Given the description of an element on the screen output the (x, y) to click on. 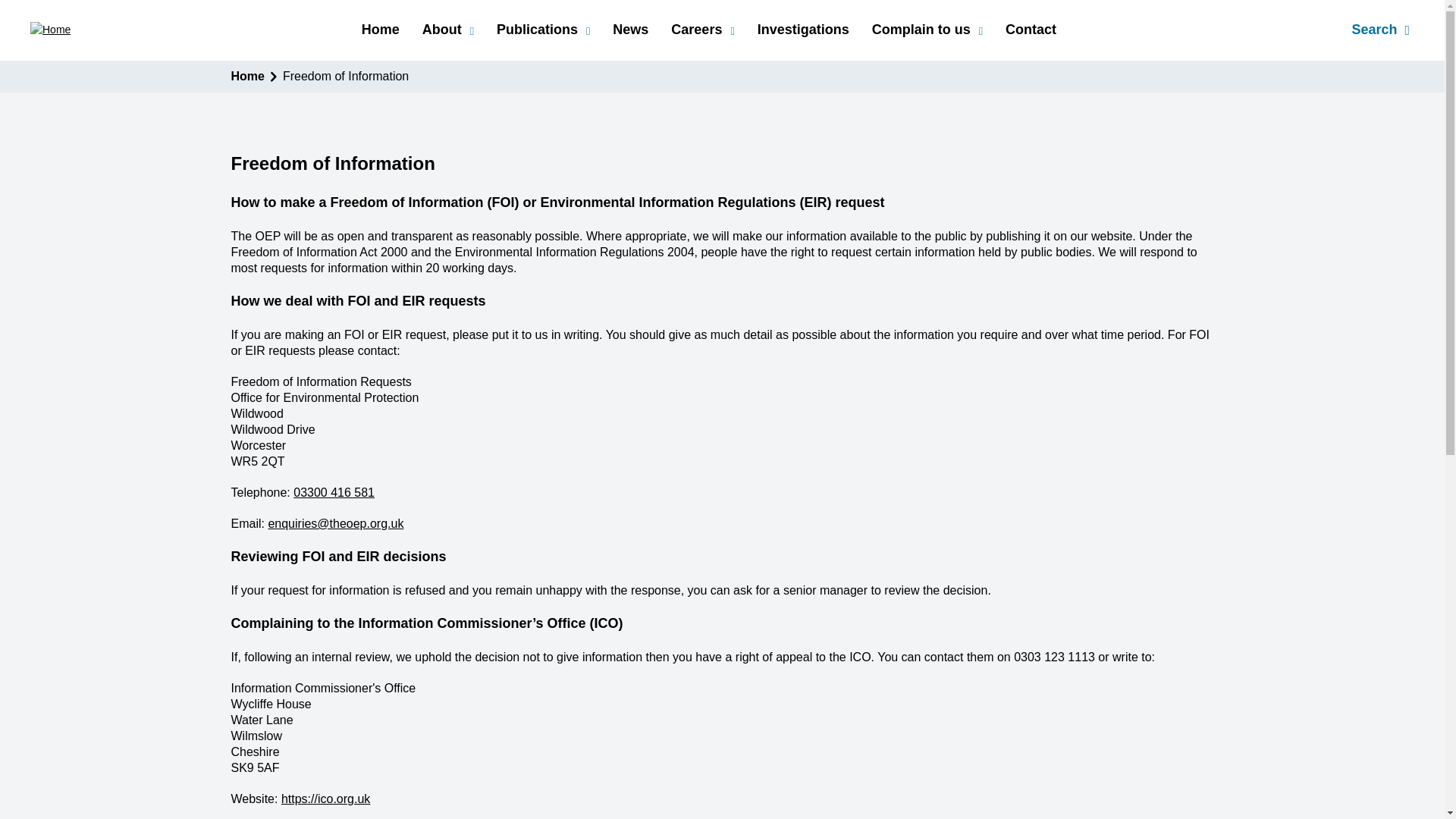
Freedom of Information (345, 76)
03300 416 581 (334, 492)
News (629, 29)
Home (379, 29)
Home (246, 76)
Careers (702, 29)
Publications (542, 29)
Investigations (802, 29)
